Given the description of an element on the screen output the (x, y) to click on. 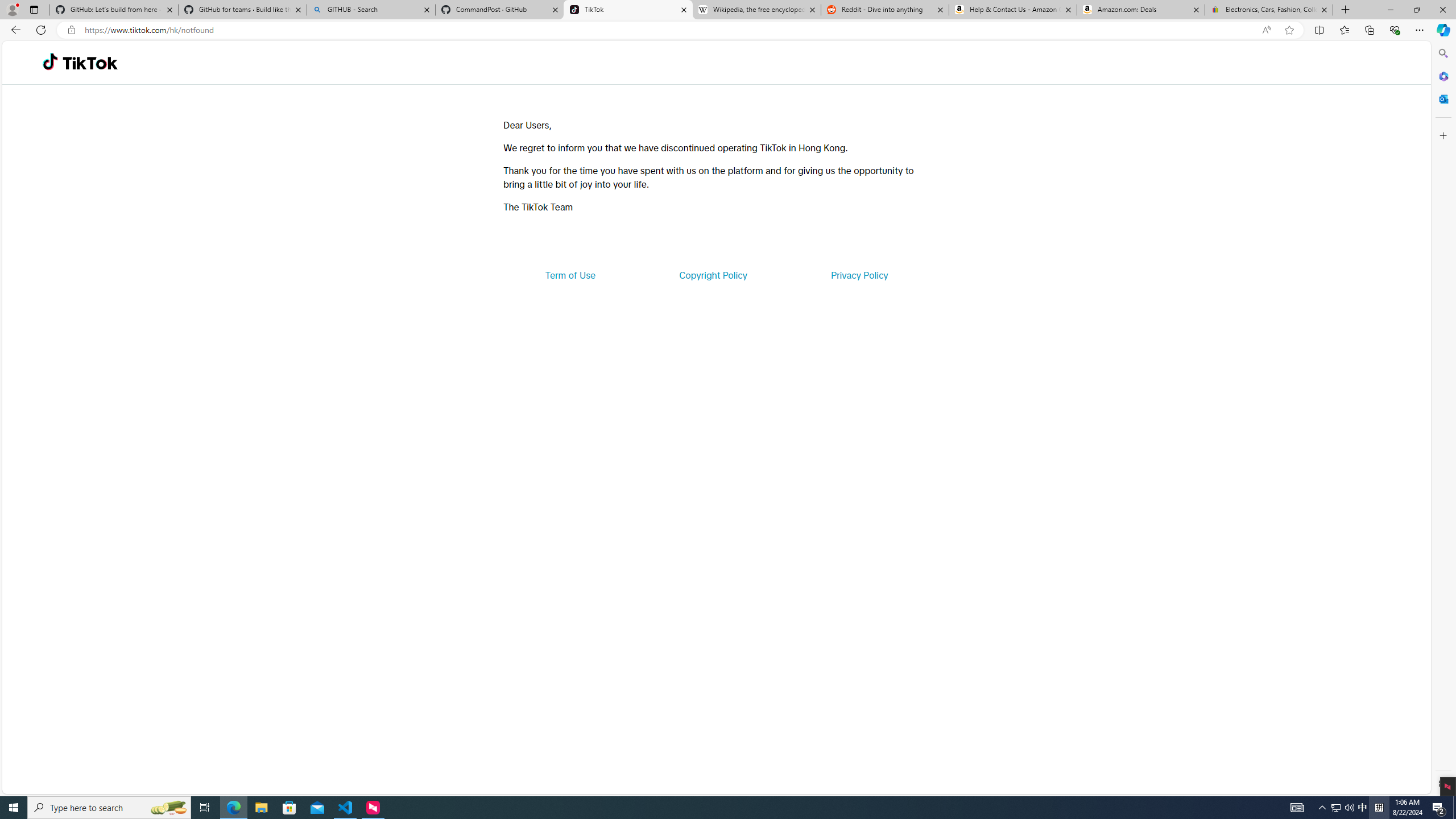
Copyright Policy (712, 274)
Minimize (1390, 9)
Collections (1369, 29)
App bar (728, 29)
Add this page to favorites (Ctrl+D) (1289, 29)
Settings and more (Alt+F) (1419, 29)
TikTok (89, 62)
View site information (70, 29)
Customize (1442, 135)
Split screen (1318, 29)
Amazon.com: Deals (1140, 9)
Electronics, Cars, Fashion, Collectibles & More | eBay (1268, 9)
